Given the description of an element on the screen output the (x, y) to click on. 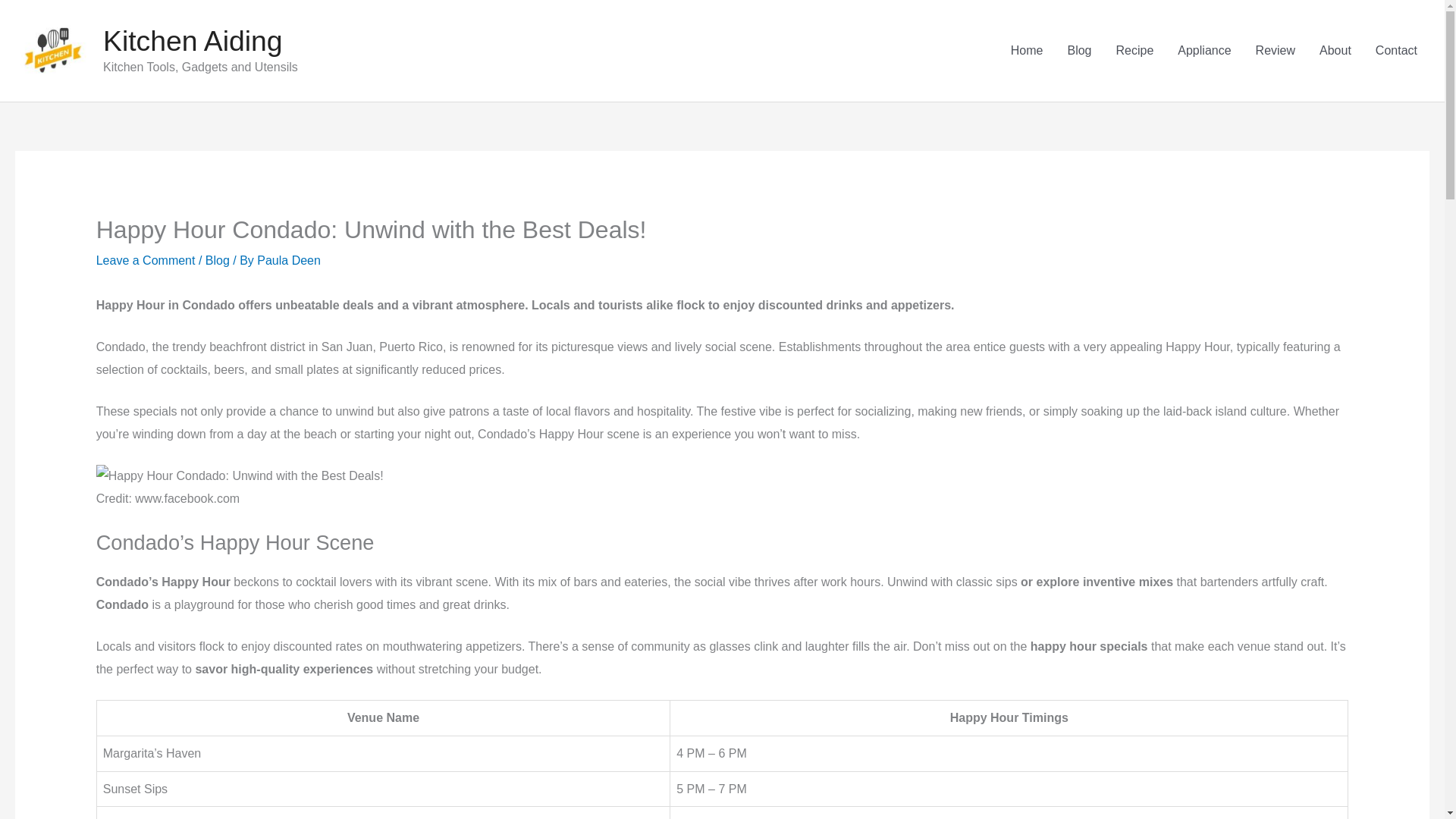
View all posts by Paula Deen (288, 259)
Kitchen Aiding (192, 40)
Blog (217, 259)
Paula Deen (288, 259)
Leave a Comment (145, 259)
